Given the description of an element on the screen output the (x, y) to click on. 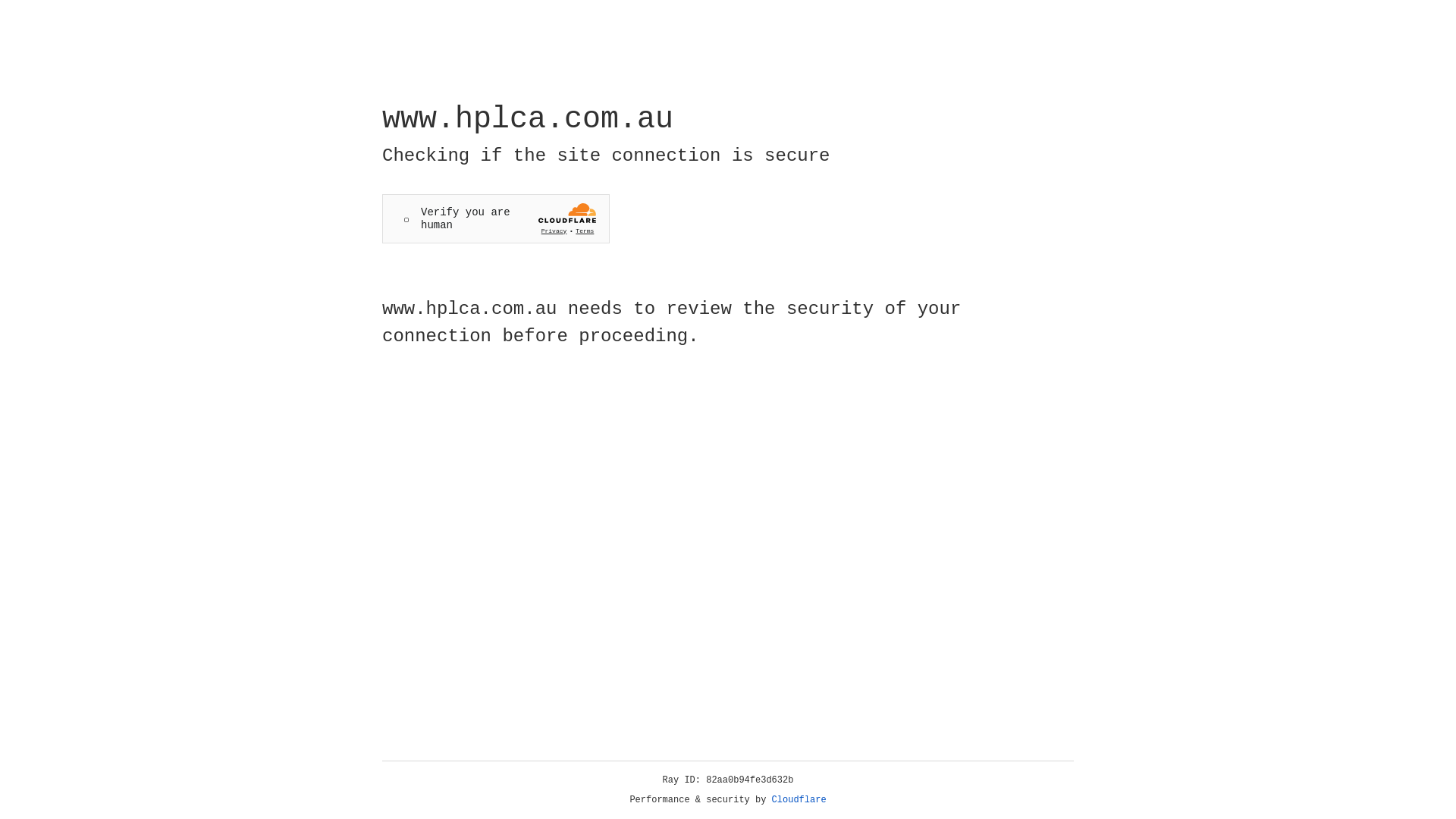
Widget containing a Cloudflare security challenge Element type: hover (495, 218)
Cloudflare Element type: text (798, 799)
